Given the description of an element on the screen output the (x, y) to click on. 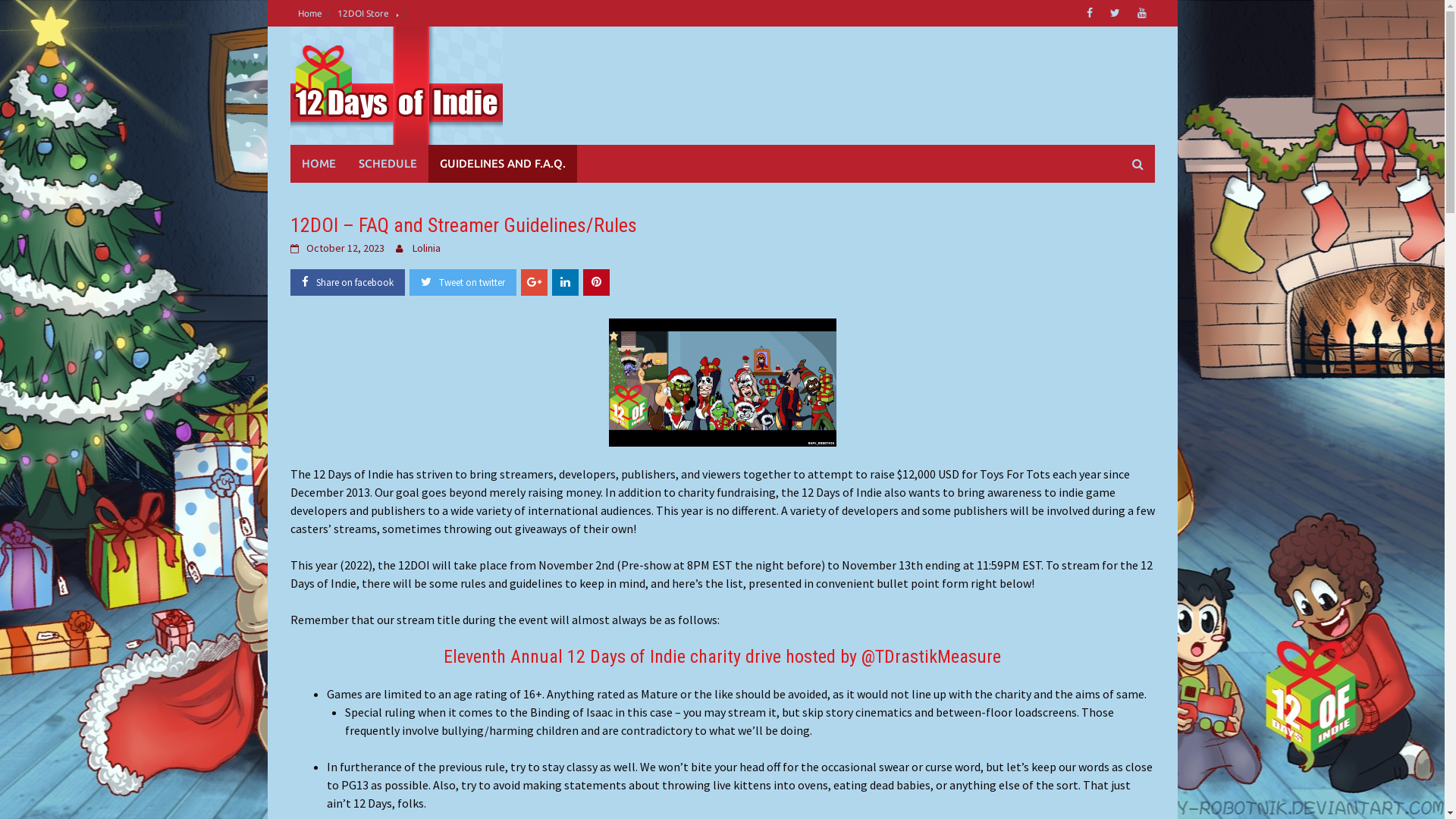
October 12, 2023 Element type: text (345, 247)
SCHEDULE Element type: text (387, 163)
Home Element type: text (309, 13)
12DOI Store Element type: text (367, 13)
GUIDELINES AND F.A.Q. Element type: text (501, 163)
HOME Element type: text (317, 163)
Tweet on twitter Element type: text (462, 282)
Lolinia Element type: text (426, 247)
Share on facebook Element type: text (346, 282)
